Given the description of an element on the screen output the (x, y) to click on. 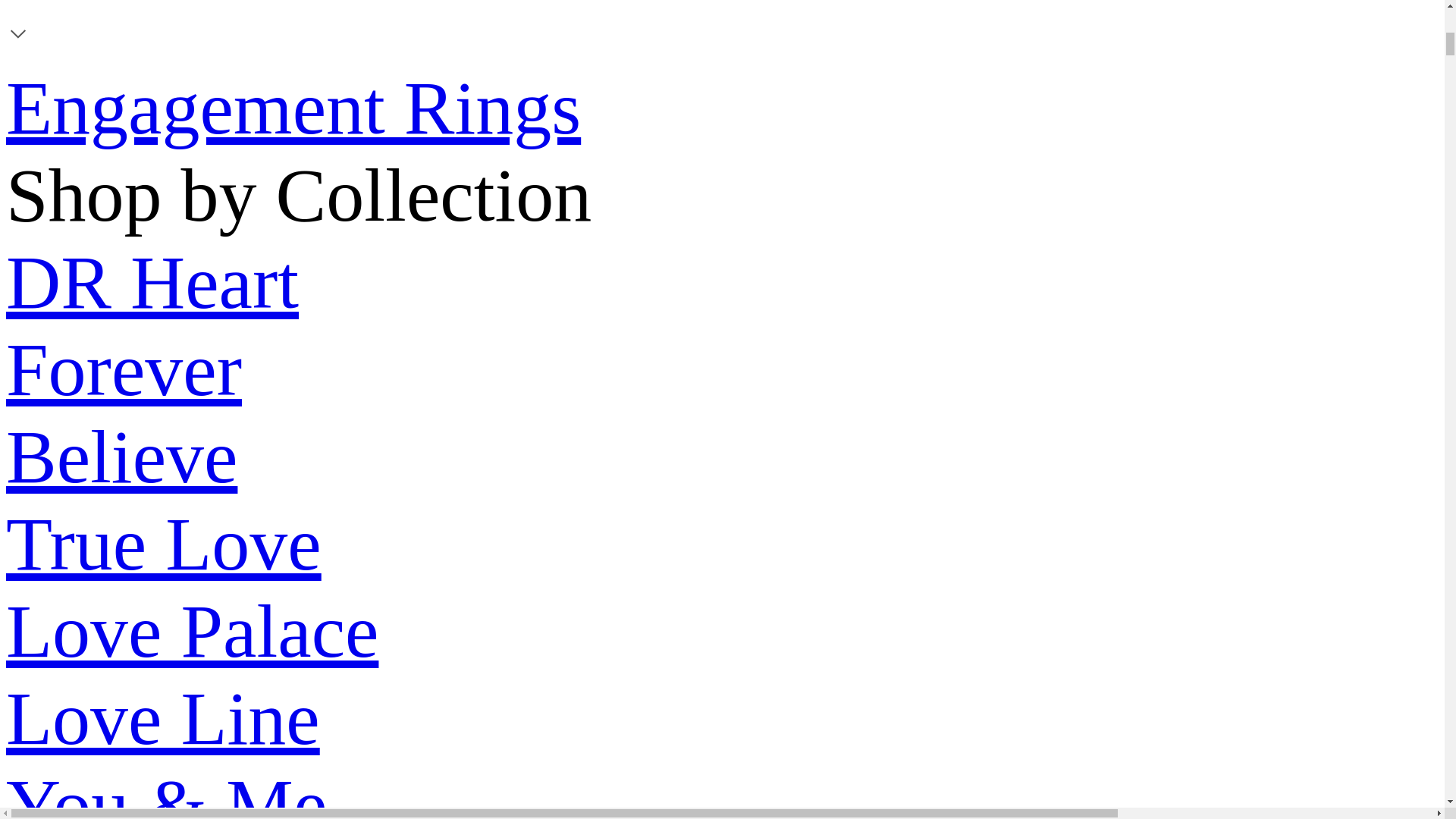
Engagement Rings (292, 107)
True Love (163, 544)
Love Line (162, 718)
Forever (123, 369)
DR Heart (151, 282)
Believe (121, 456)
Love Palace (191, 630)
